Given the description of an element on the screen output the (x, y) to click on. 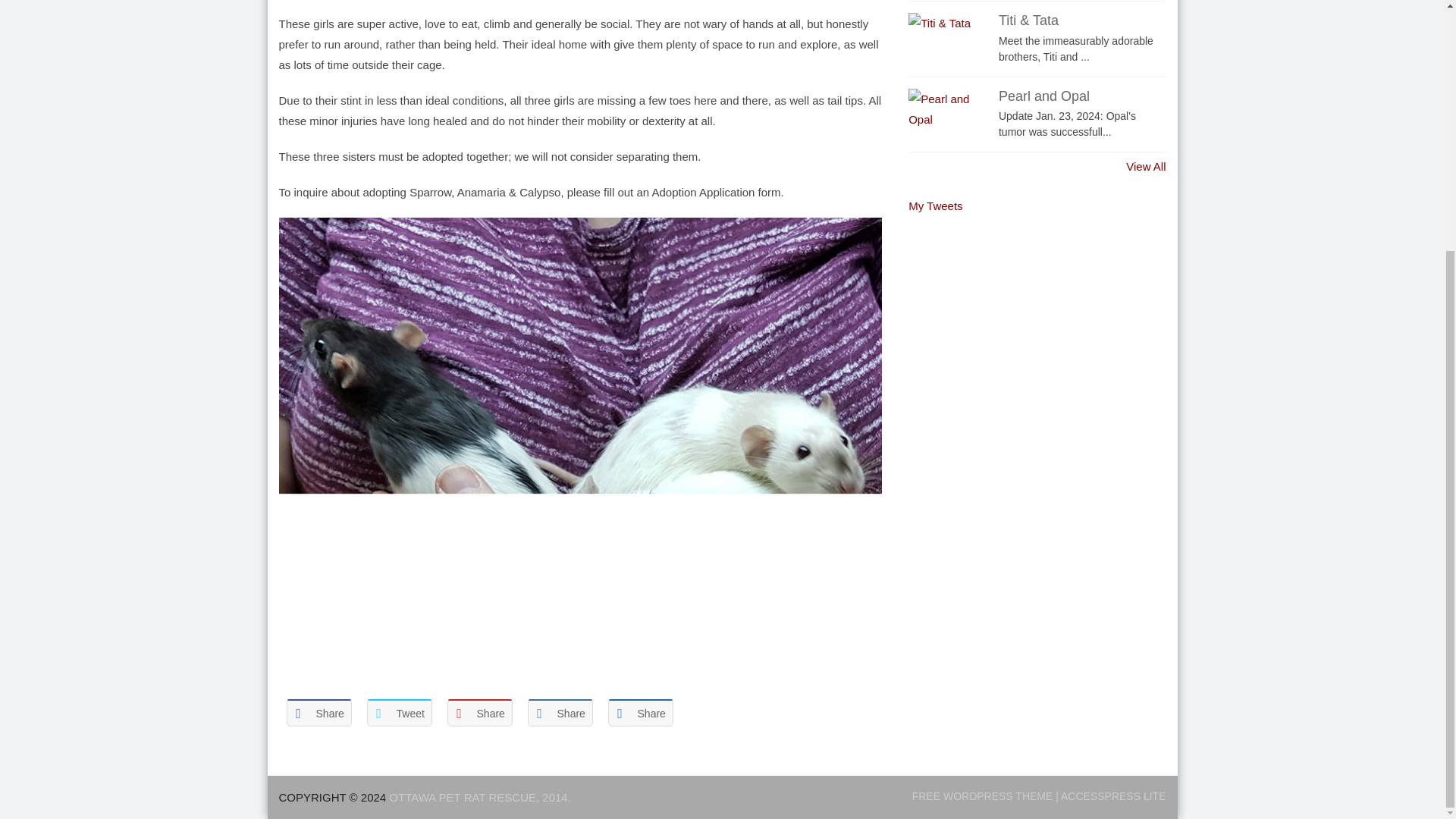
Share (559, 712)
Share (479, 712)
Share (640, 712)
Share on Pinterest (479, 712)
Share on Twitter (399, 712)
Share on LinkedIn (559, 712)
Tweet (399, 712)
Share on Digg (640, 712)
Share (319, 712)
Share on Facebook (319, 712)
